Given the description of an element on the screen output the (x, y) to click on. 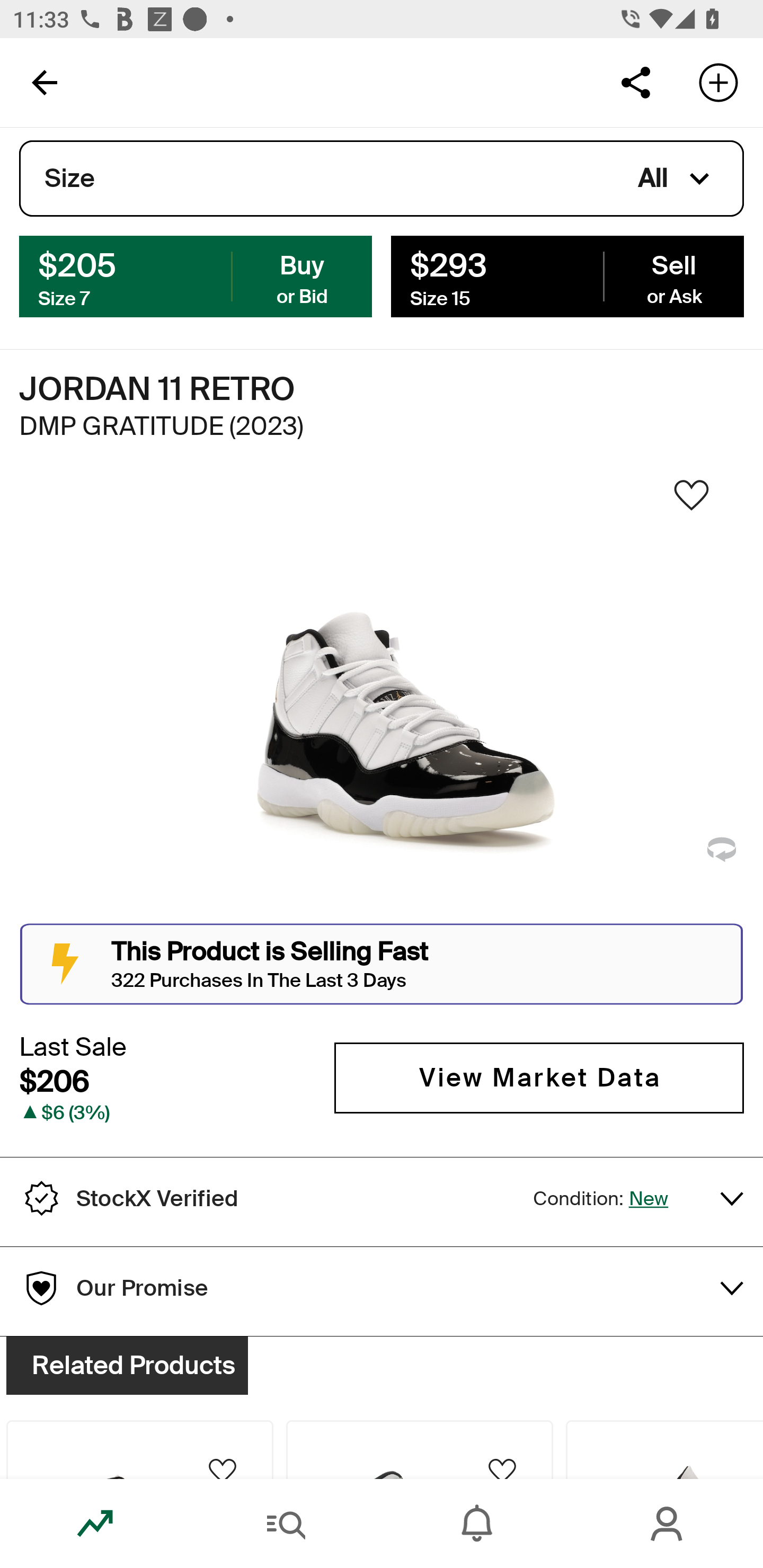
Share (635, 81)
Add (718, 81)
Size All (381, 178)
$205 Buy Size 7 or Bid (195, 275)
$293 Sell Size 15 or Ask (566, 275)
Sneaker Image (381, 699)
View Market Data (538, 1077)
Search (285, 1523)
Inbox (476, 1523)
Account (667, 1523)
